Given the description of an element on the screen output the (x, y) to click on. 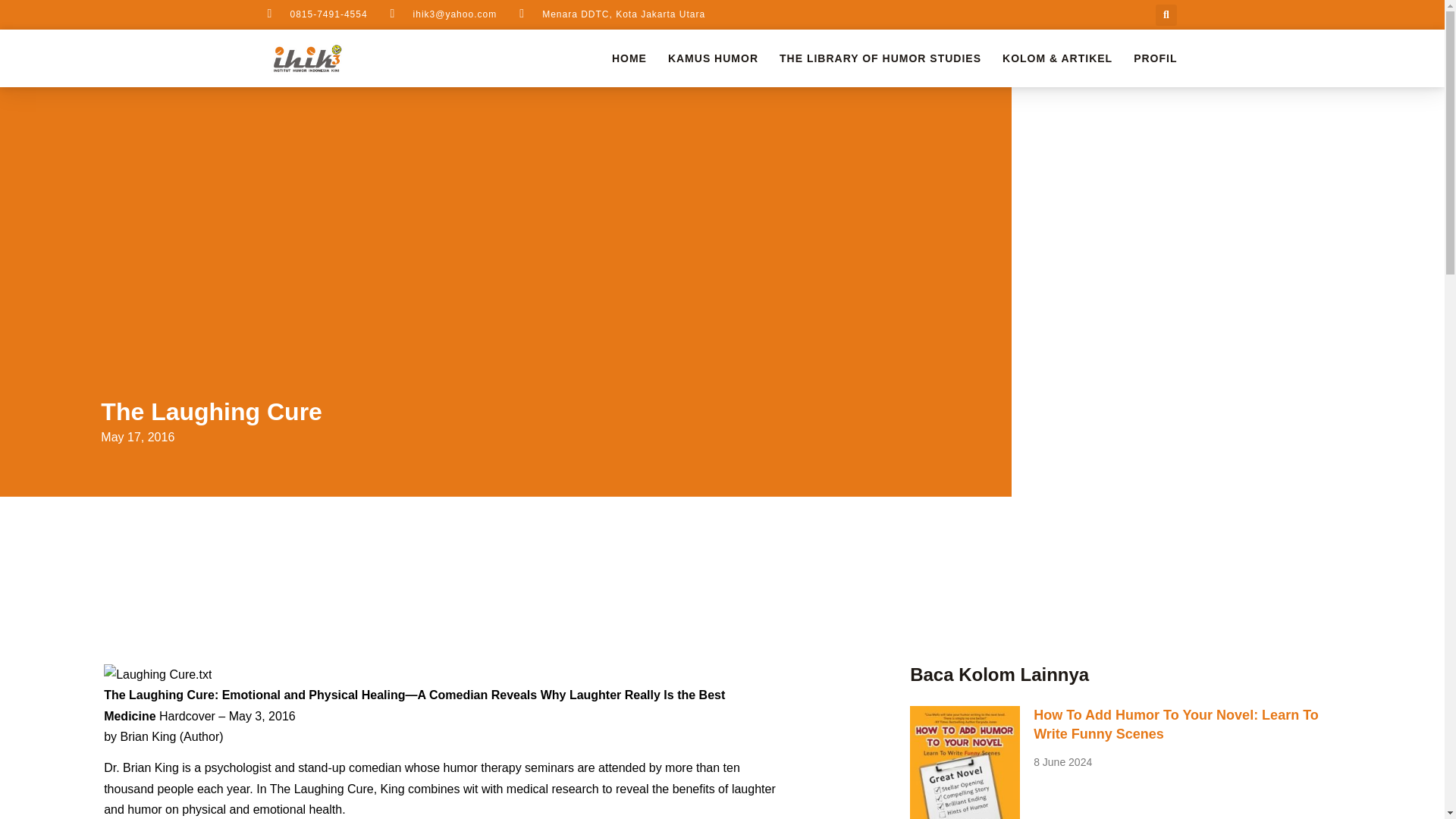
How To Add Humor To Your Novel: Learn To Write Funny Scenes (1176, 724)
0815-7491-4554 (316, 14)
HOME (628, 58)
PROFIL (1155, 58)
THE LIBRARY OF HUMOR STUDIES (879, 58)
KAMUS HUMOR (713, 58)
Menara DDTC, Kota Jakarta Utara (611, 14)
